Given the description of an element on the screen output the (x, y) to click on. 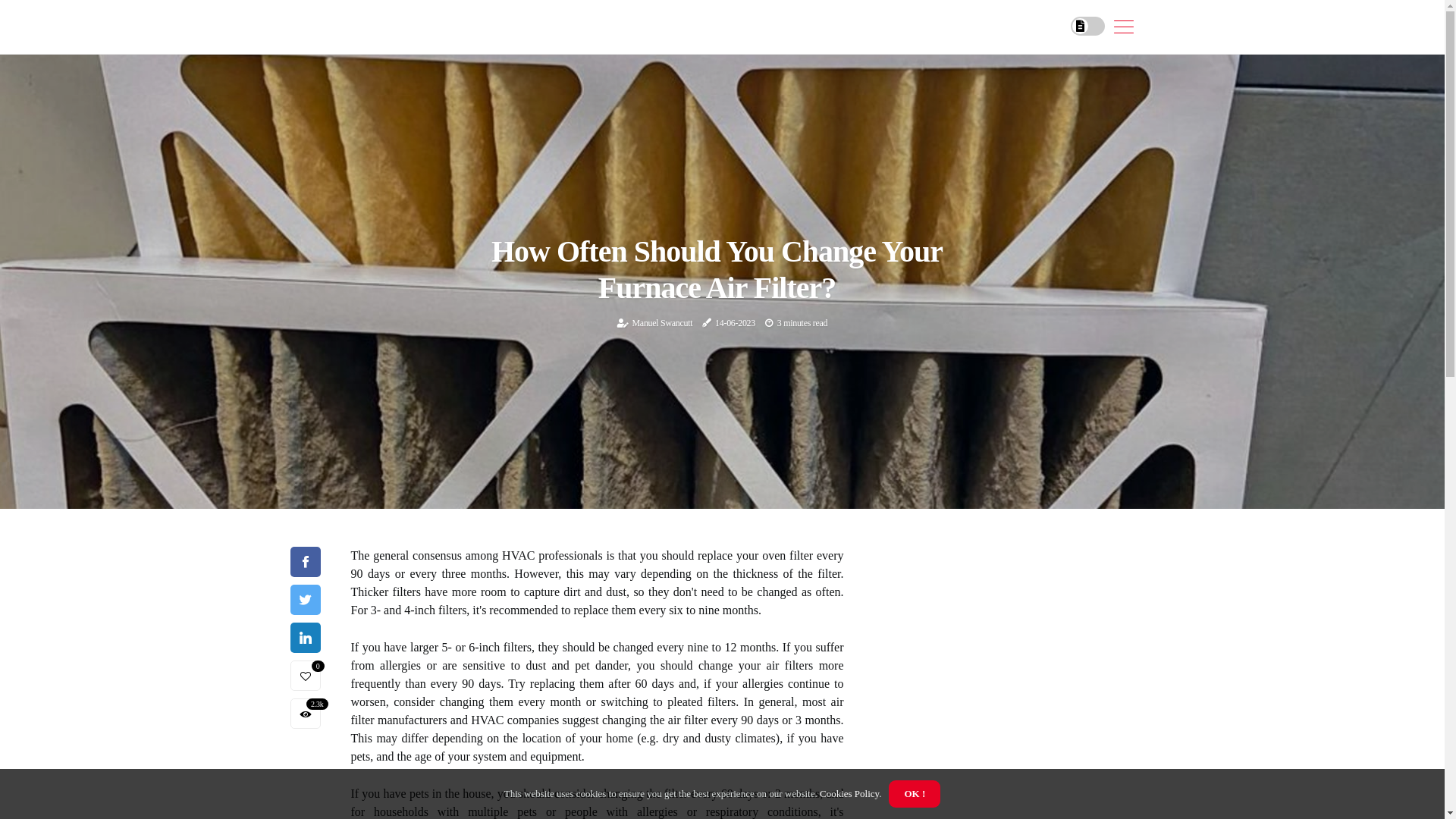
Manuel Swancutt Element type: text (662, 322)
0 Element type: text (304, 675)
Cookies Policy Element type: text (848, 793)
